Given the description of an element on the screen output the (x, y) to click on. 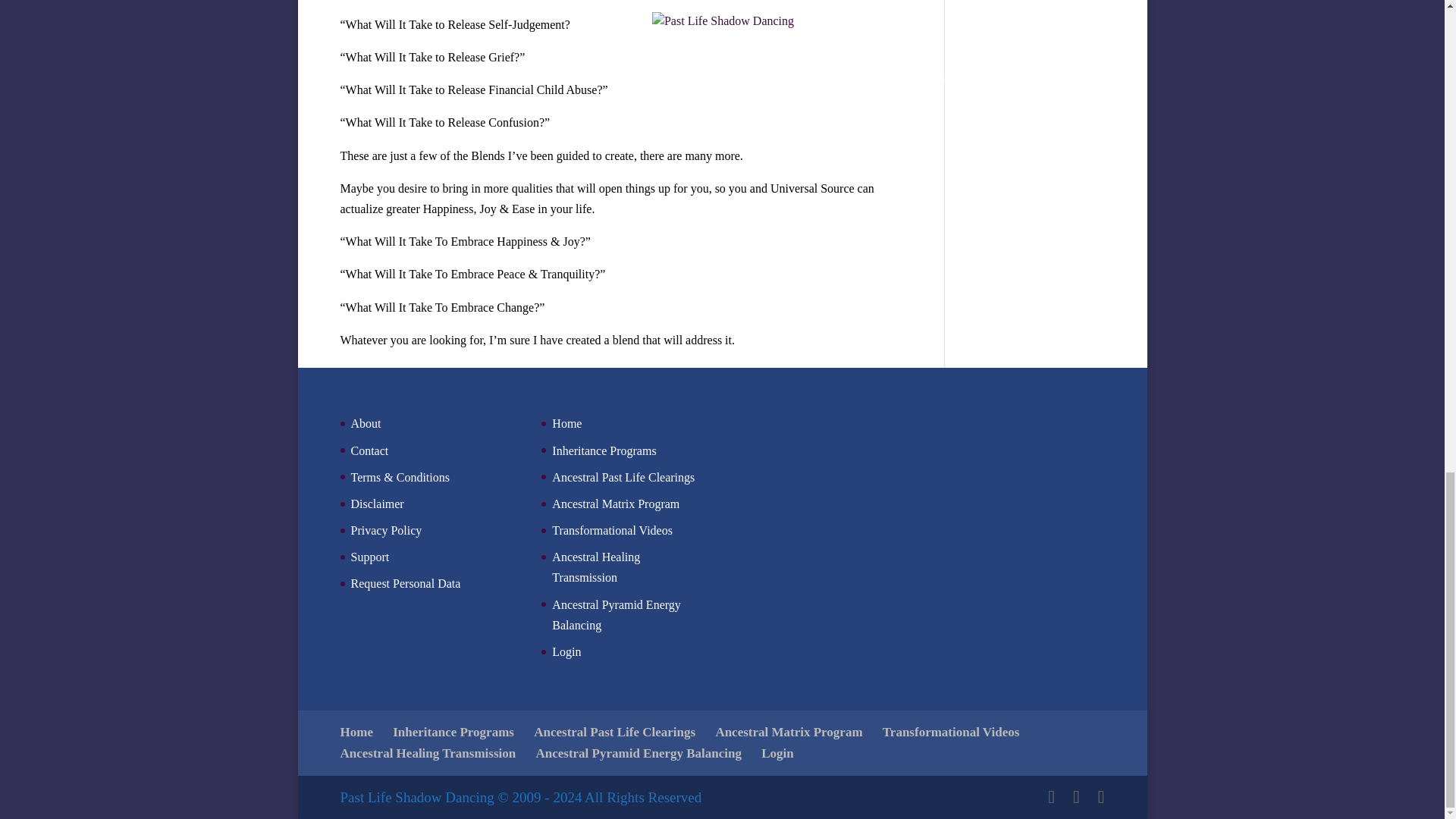
Transformational Videos (611, 530)
Support (369, 556)
Privacy Policy (386, 530)
Ancestral Past Life Clearings (622, 477)
Ancestral Matrix Program (615, 503)
Request Personal Data (405, 583)
Ancestral Healing Transmission (595, 566)
Inheritance Programs (603, 450)
Disclaimer (376, 503)
Contact (369, 450)
